Given the description of an element on the screen output the (x, y) to click on. 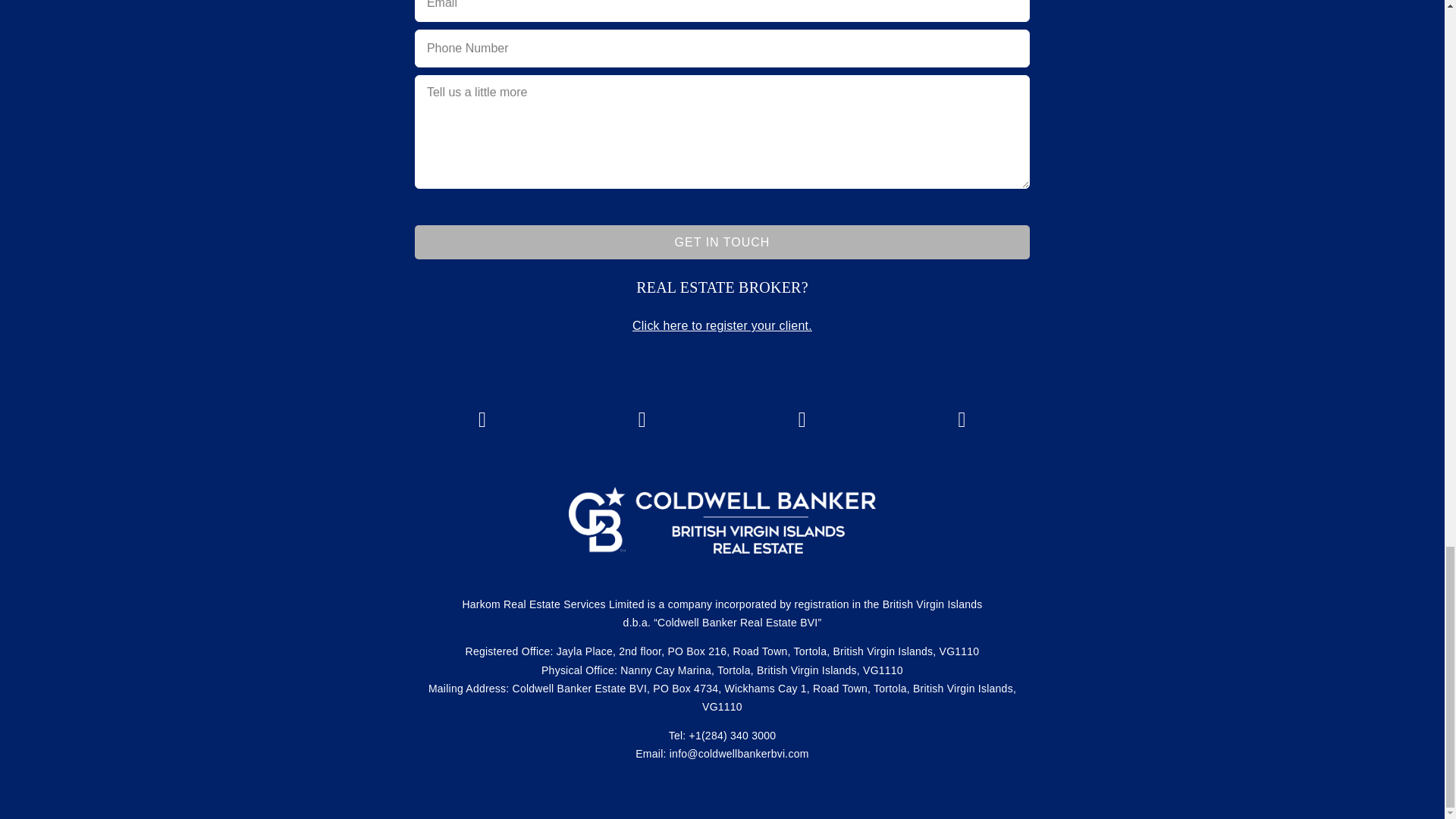
GET IN TOUCH (721, 242)
Page 1 (721, 287)
CBBVI website logo 2024 transparent background 3 (722, 519)
